Given the description of an element on the screen output the (x, y) to click on. 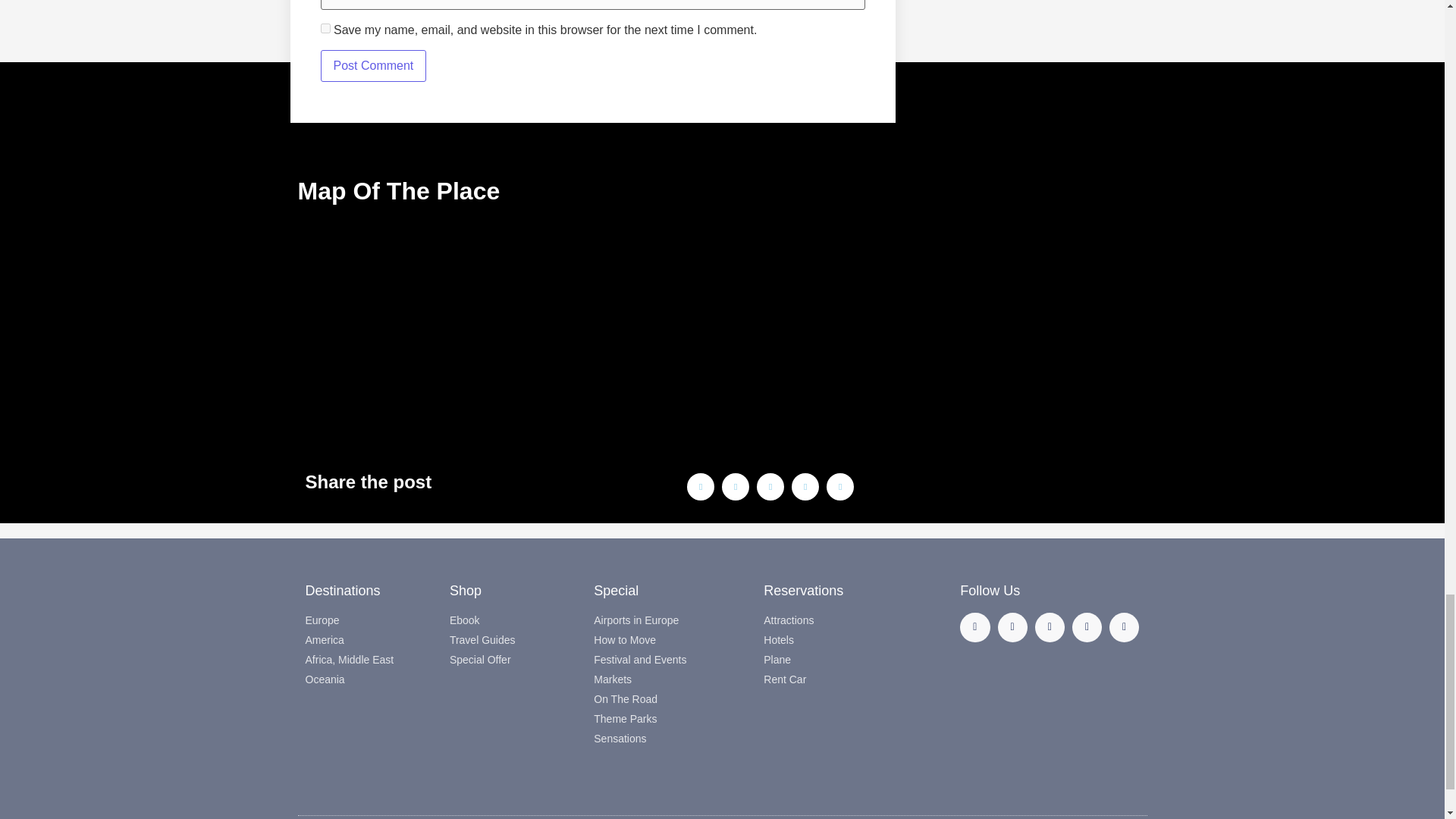
yes (325, 28)
parc des expositions Digione (579, 336)
Post Comment (373, 65)
